Given the description of an element on the screen output the (x, y) to click on. 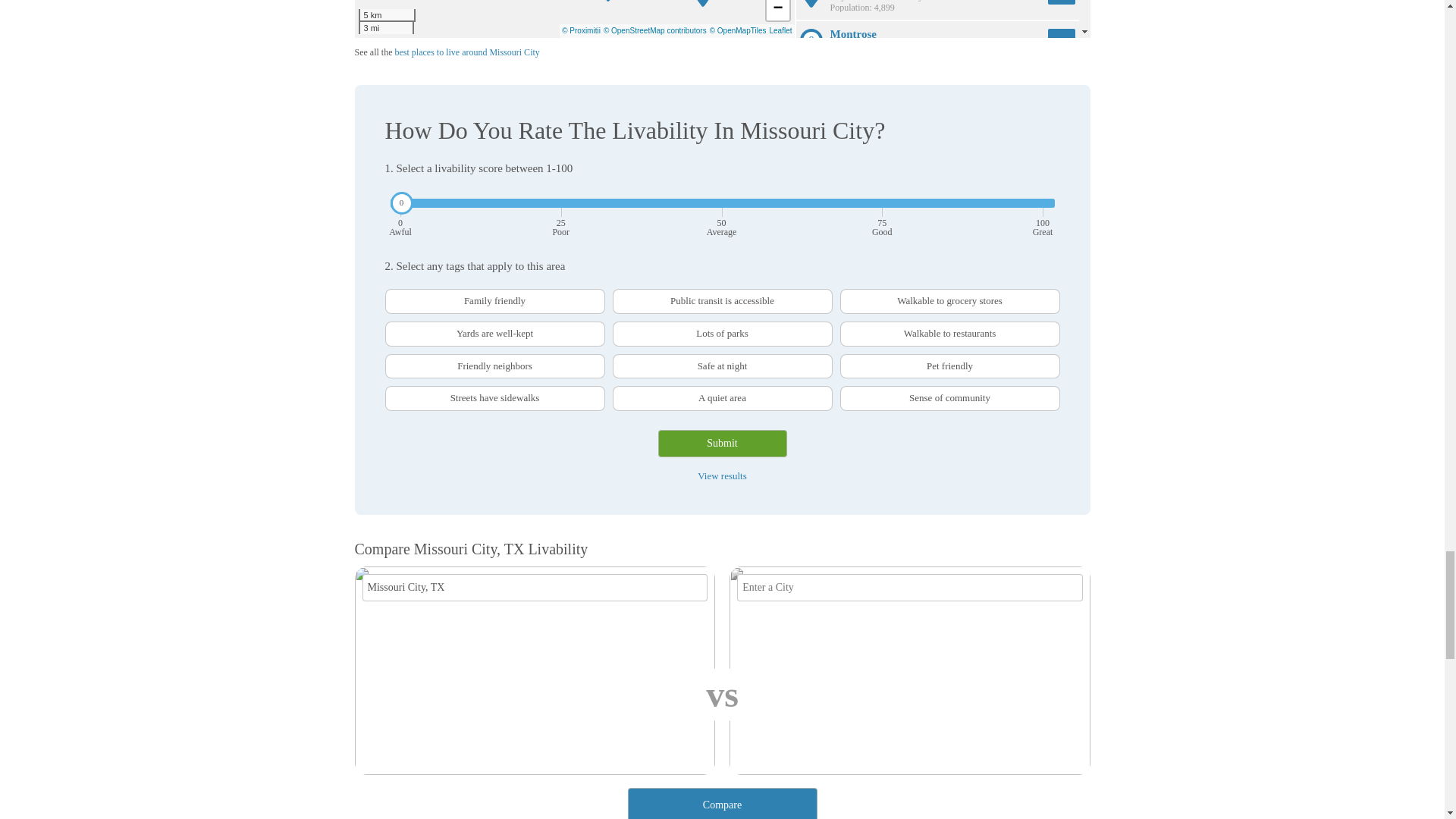
00040 (389, 293)
Zoom out (777, 9)
00800 (389, 293)
00001 (389, 293)
00400 (389, 293)
Missouri City, TX (534, 587)
00008 (389, 293)
00200 (389, 293)
0 (722, 202)
00100 (389, 293)
00020 (389, 293)
00004 (389, 293)
00080 (389, 293)
00010 (389, 293)
00002 (389, 293)
